Given the description of an element on the screen output the (x, y) to click on. 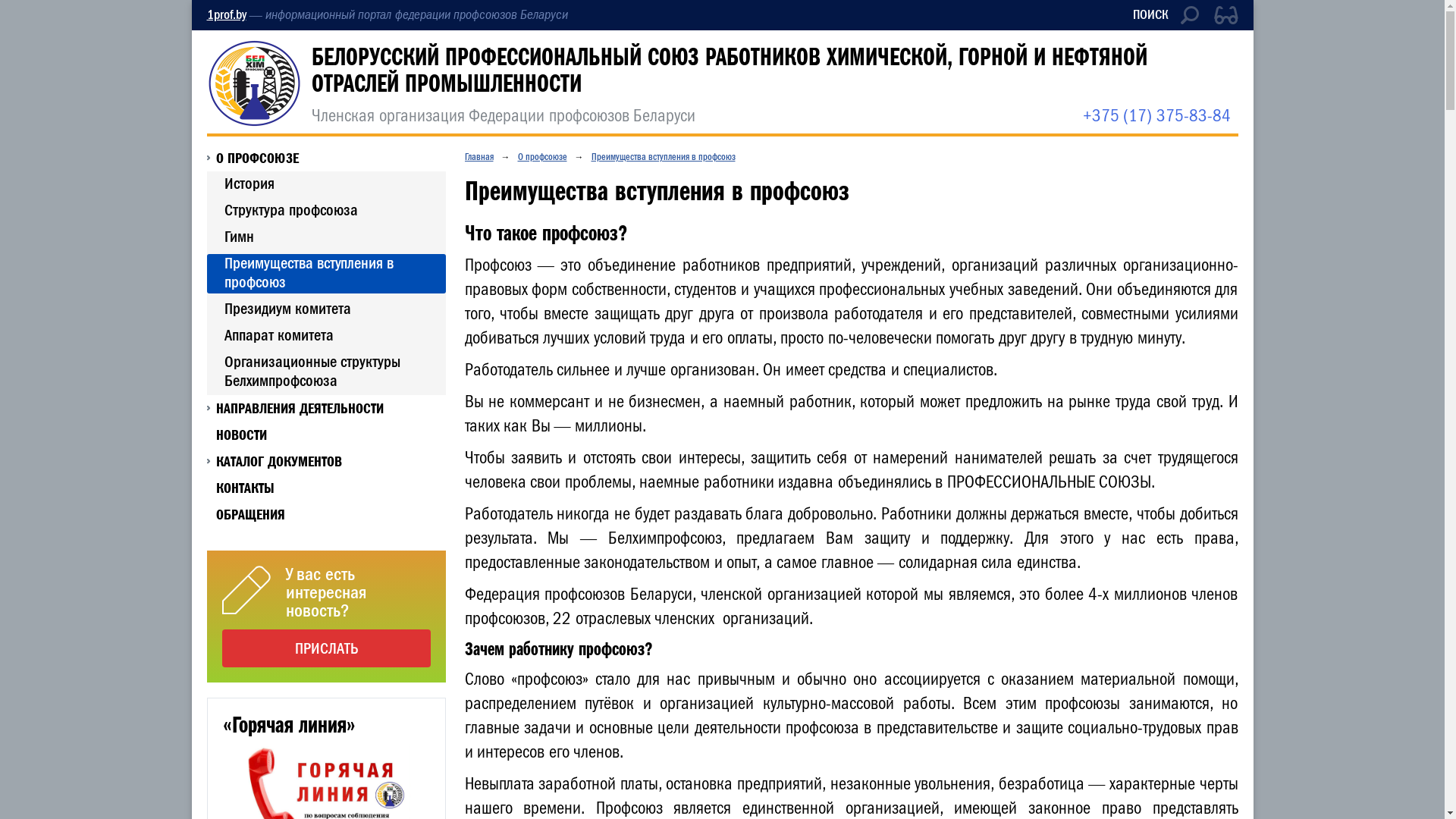
1prof.by Element type: text (225, 14)
+375 (17) 375-83-84 Element type: text (1156, 115)
